Given the description of an element on the screen output the (x, y) to click on. 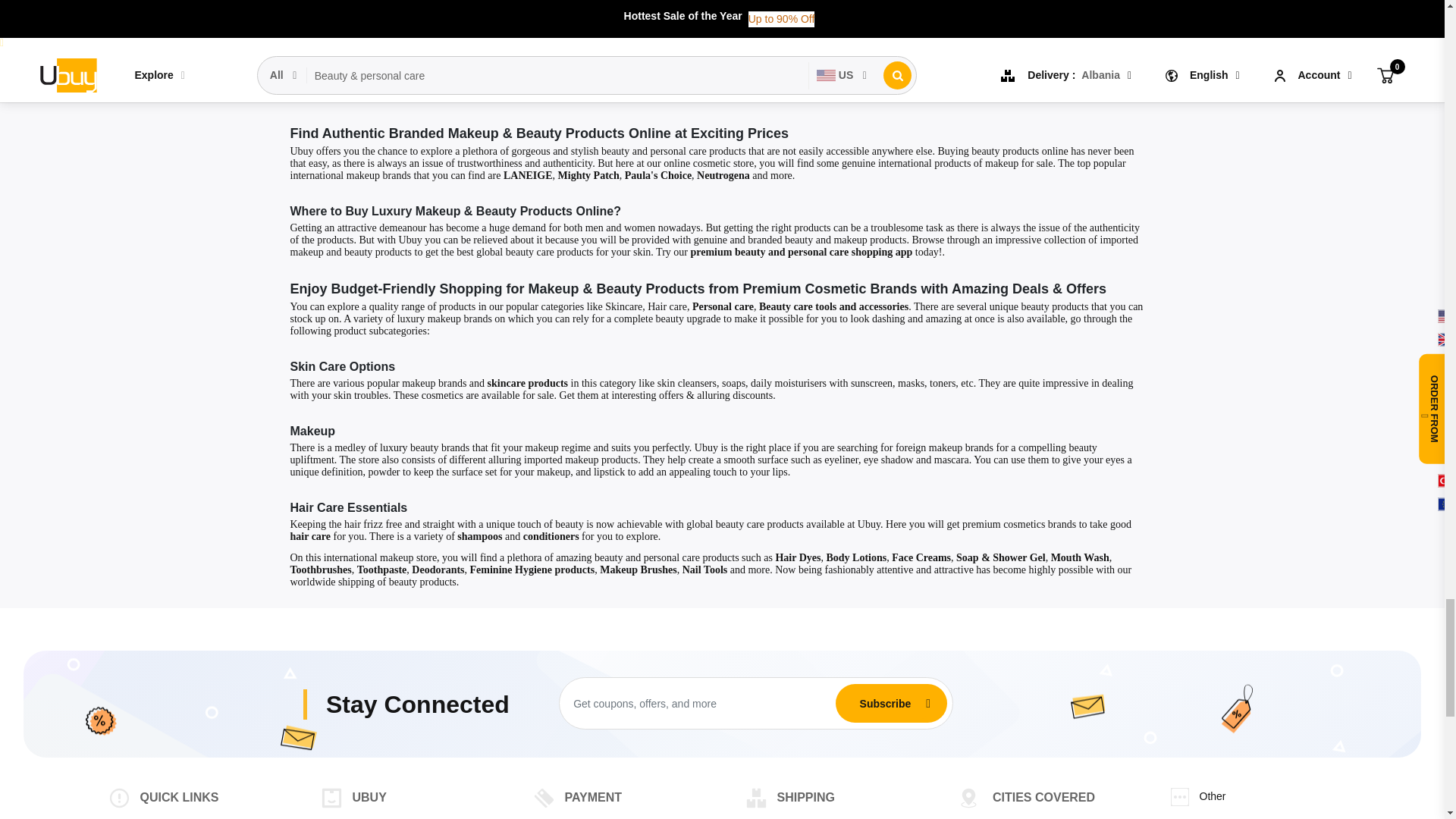
Subscribe (885, 703)
